Given the description of an element on the screen output the (x, y) to click on. 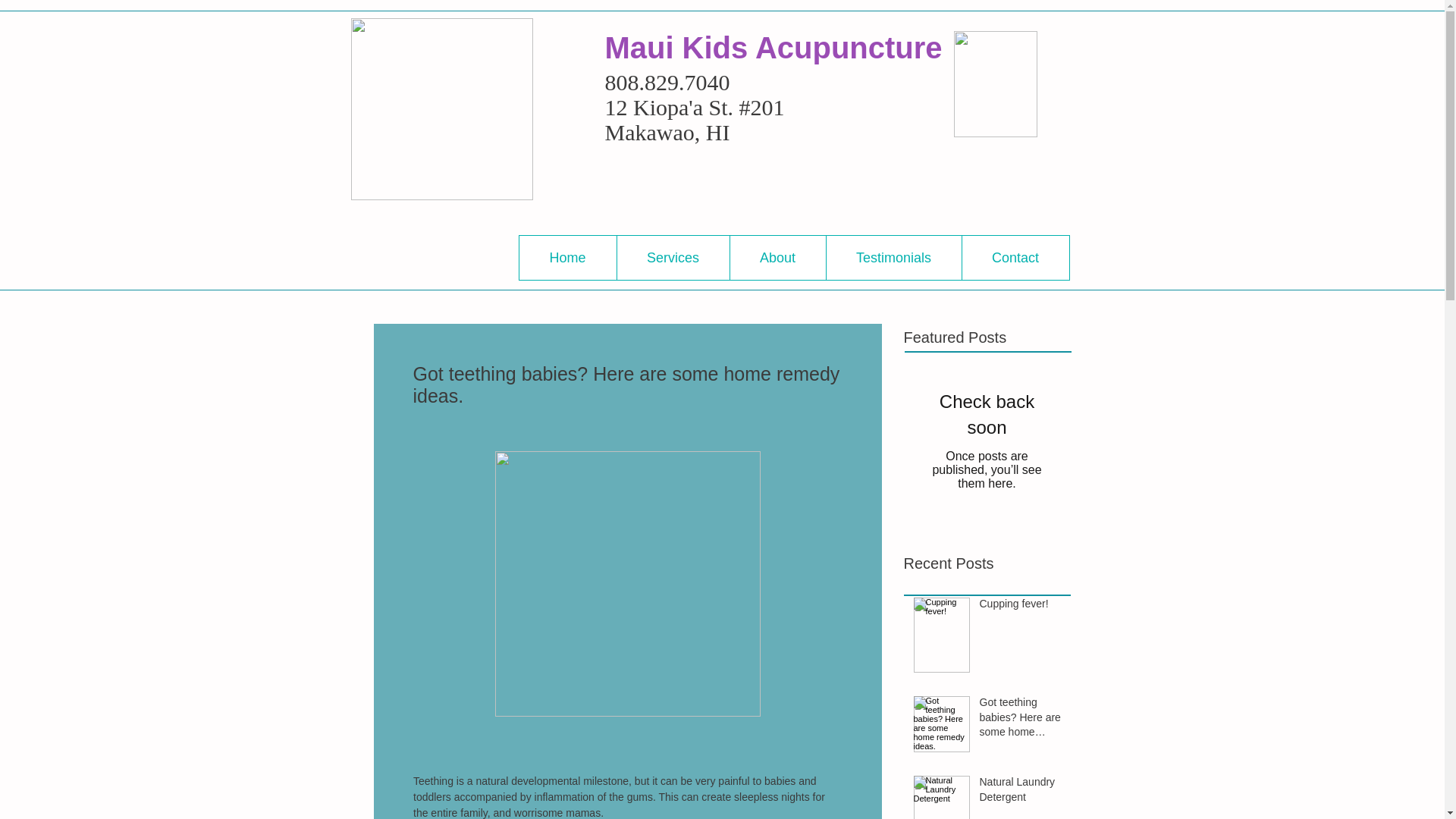
Got teething babies? Here are some home remedy ideas. (1020, 720)
About (777, 257)
Cupping fever! (1020, 607)
Edited Image 2016-02-18 08-38-23 (441, 108)
Natural Laundry Detergent (1020, 792)
Services (672, 257)
Testimonials (892, 257)
Maui Kids  (679, 47)
Home (566, 257)
Contact (1014, 257)
